Given the description of an element on the screen output the (x, y) to click on. 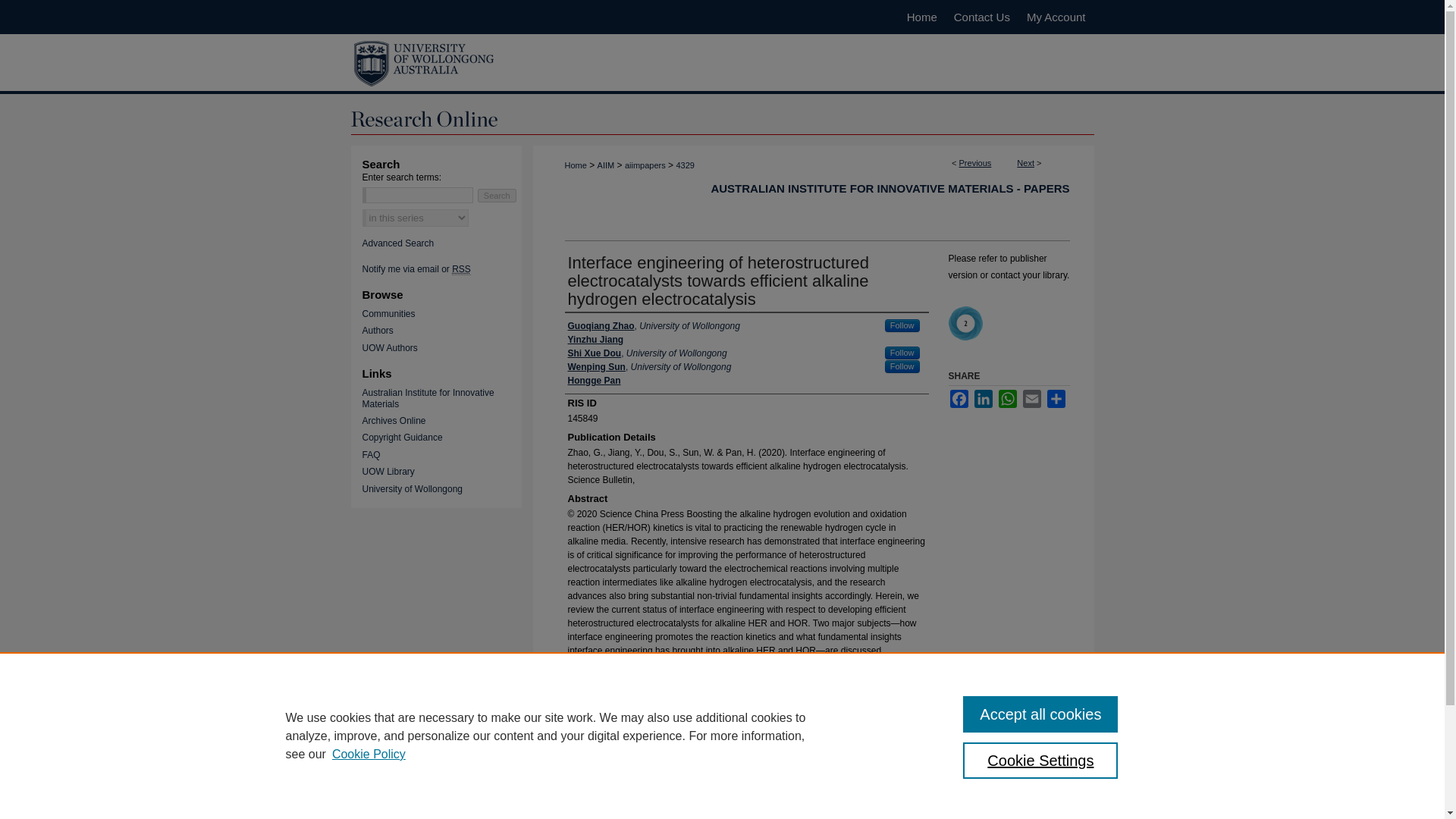
Contact Us (980, 17)
Search (496, 195)
Next (1024, 162)
Follow Shi Xue Dou (902, 352)
Wenping Sun, University of Wollongong (648, 366)
Advanced Search (397, 243)
Follow Guoqiang Zhao (902, 325)
Previous (975, 162)
Follow (902, 366)
Home (575, 164)
AUSTRALIAN INSTITUTE FOR INNOVATIVE MATERIALS - PAPERS (889, 187)
aiimpapers (644, 164)
Email or RSS Notifications (447, 268)
Shi Xue Dou, University of Wollongong (646, 353)
Search (496, 195)
